Given the description of an element on the screen output the (x, y) to click on. 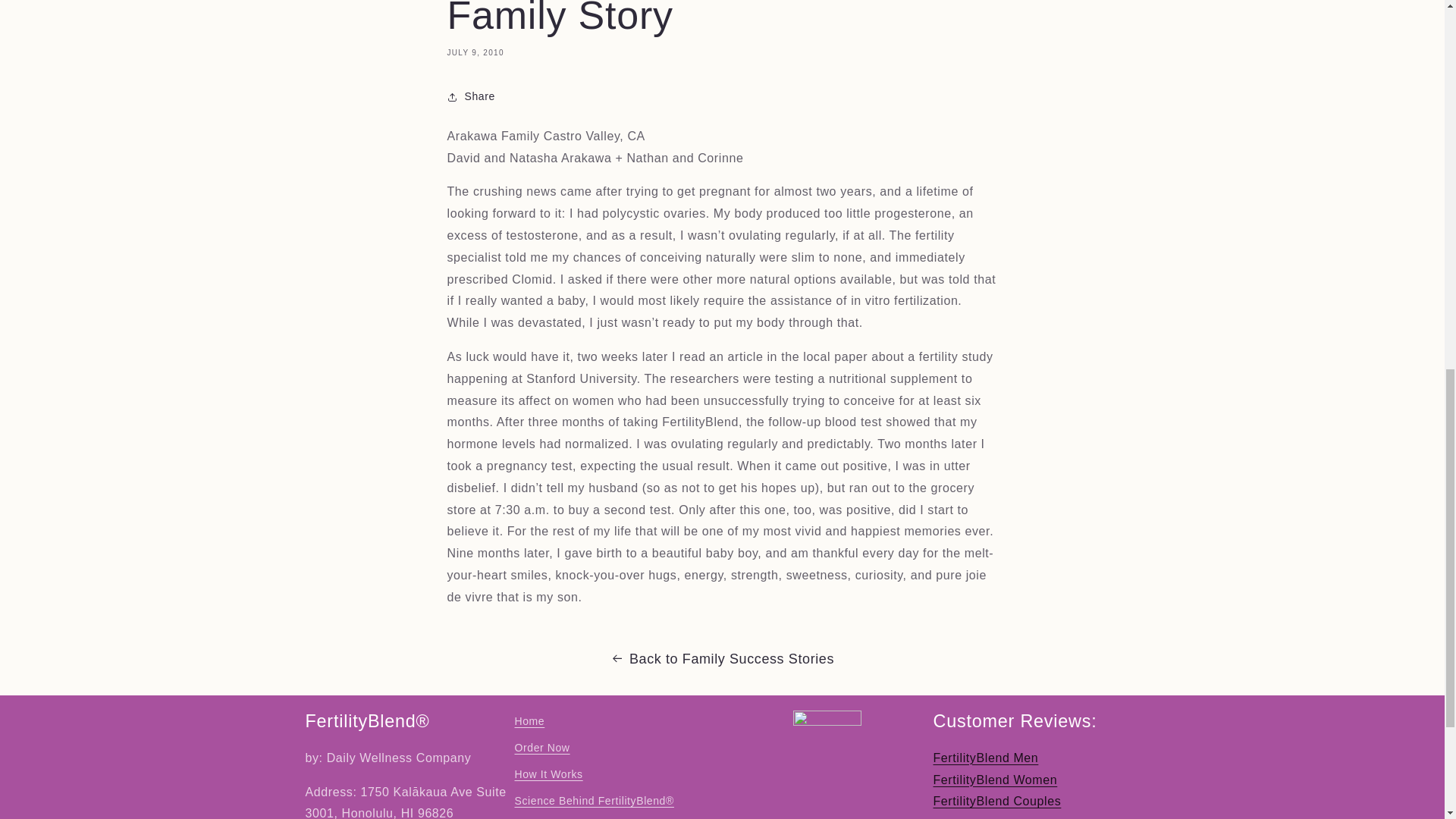
Success Stories (554, 816)
FertilityBlend Men (985, 757)
FertilityBlend Women (995, 779)
Order Now (541, 747)
FertilityBlend Couples (997, 800)
How It Works (547, 774)
Home (528, 722)
